Given the description of an element on the screen output the (x, y) to click on. 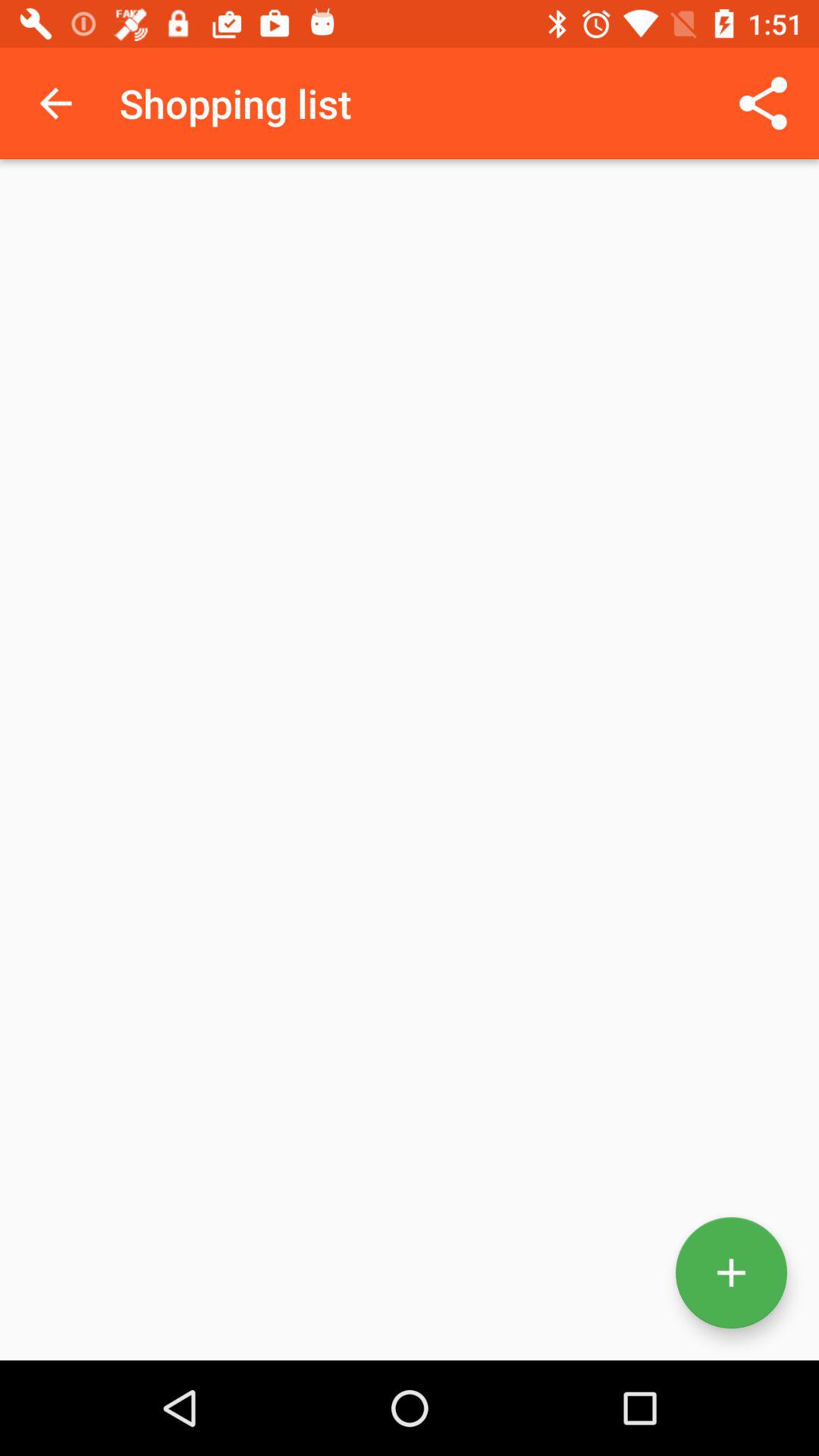
launch the item to the right of shopping list app (763, 103)
